Given the description of an element on the screen output the (x, y) to click on. 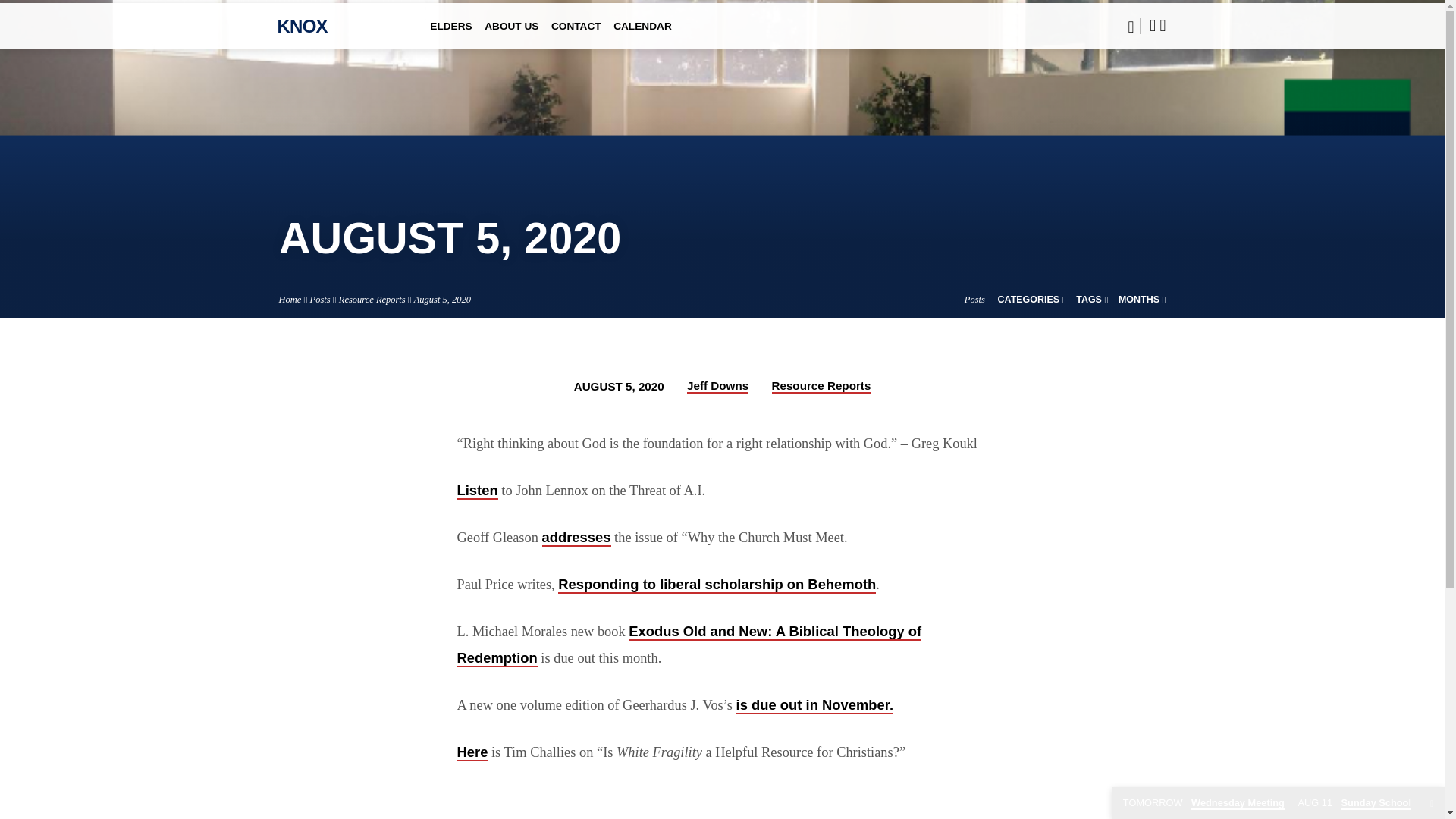
Responding to liberal scholarship on Behemoth (716, 584)
Resource Reports (820, 386)
TAGS (1091, 299)
AUG 11 Sunday School (1353, 802)
Jeff Downs (717, 386)
Here (472, 752)
Listen (477, 490)
Resource Reports (372, 299)
is due out in November. (814, 705)
KNOX (302, 25)
Wednesday Meeting (1203, 802)
CALENDAR (641, 35)
August 5, 2020 (441, 299)
Sunday School (1353, 802)
Exodus Old and New: A Biblical Theology of Redemption (689, 644)
